Given the description of an element on the screen output the (x, y) to click on. 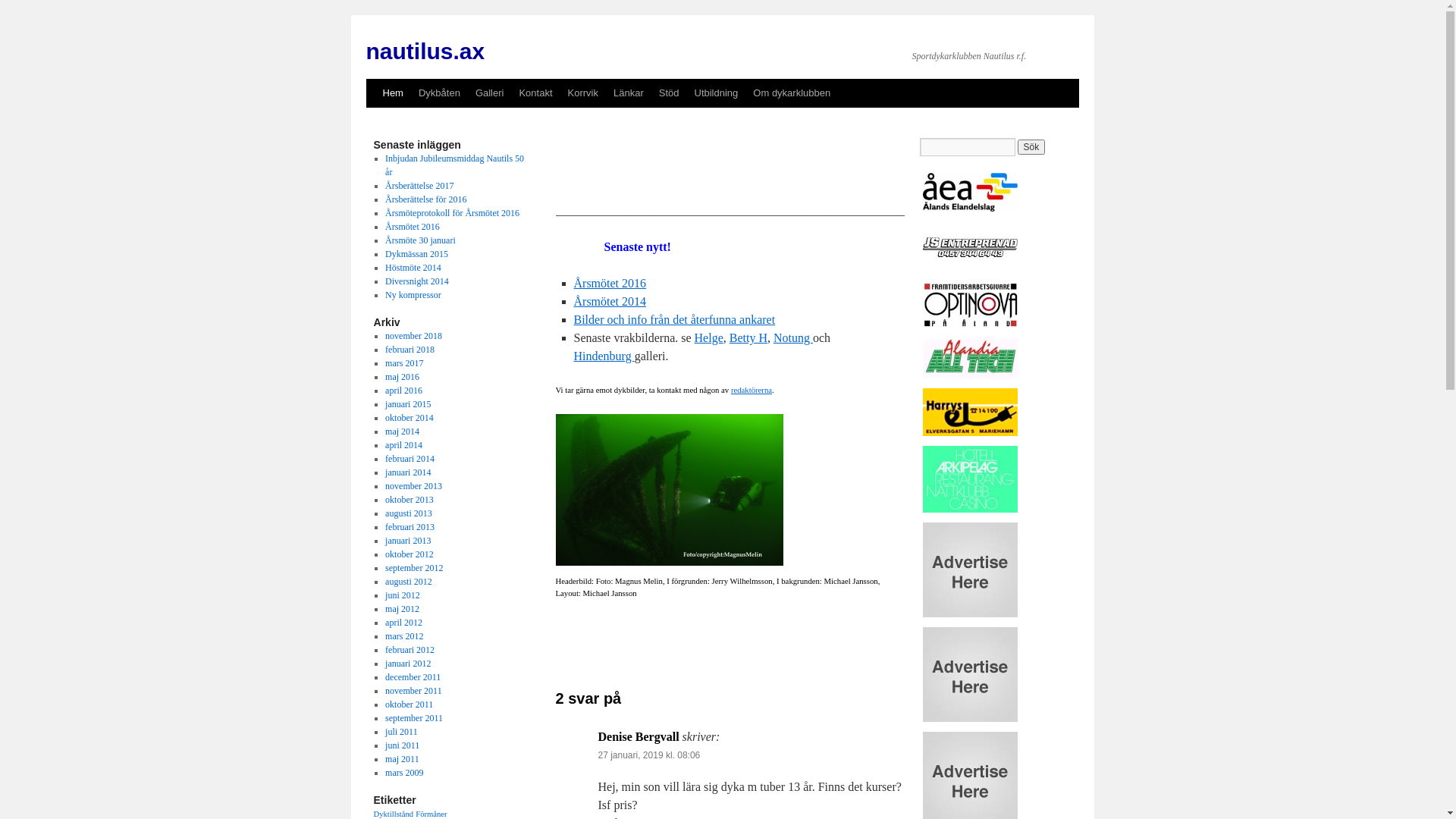
Notung  Element type: text (792, 337)
Diversnight 2014 Element type: text (416, 281)
maj 2014 Element type: text (402, 431)
juni 2011 Element type: text (402, 745)
JS entrepenad Element type: hover (969, 269)
november 2013 Element type: text (413, 485)
januari 2014 Element type: text (407, 472)
september 2012 Element type: text (413, 567)
augusti 2013 Element type: text (408, 513)
februari 2012 Element type: text (409, 649)
Hem Element type: text (392, 92)
Optinova Element type: hover (969, 323)
augusti 2012 Element type: text (408, 581)
Helge Element type: text (708, 337)
mars 2012 Element type: text (404, 635)
Ny kompressor Element type: text (413, 294)
januari 2012 Element type: text (407, 663)
februari 2013 Element type: text (409, 526)
Utbildning Element type: text (716, 92)
Plus Element type: hover (668, 489)
AllTech Element type: hover (969, 375)
februari 2014 Element type: text (409, 458)
mars 2009 Element type: text (404, 772)
oktober 2011 Element type: text (409, 704)
februari 2018 Element type: text (409, 349)
november 2011 Element type: text (413, 690)
Arkipelag Element type: hover (969, 509)
oktober 2014 Element type: text (409, 417)
Harrys El Element type: hover (969, 432)
juli 2011 Element type: text (401, 731)
oktober 2013 Element type: text (409, 499)
mars 2017 Element type: text (404, 362)
maj 2012 Element type: text (402, 608)
april 2016 Element type: text (403, 390)
januari 2013 Element type: text (407, 540)
Betty H Element type: text (748, 337)
27 januari, 2019 kl. 08:06 Element type: text (648, 754)
april 2012 Element type: text (403, 622)
Korrvik Element type: text (582, 92)
oktober 2012 Element type: text (409, 554)
december 2011 Element type: text (412, 676)
Om dykarklubben Element type: text (791, 92)
april 2014 Element type: text (403, 444)
september 2011 Element type: text (413, 717)
Galleri Element type: text (489, 92)
Hindenburg  Element type: text (603, 355)
januari 2015 Element type: text (407, 403)
Kontakt Element type: text (535, 92)
maj 2011 Element type: text (402, 758)
november 2018 Element type: text (413, 335)
juni 2012 Element type: text (402, 594)
maj 2016 Element type: text (402, 376)
nautilus.ax Element type: text (424, 50)
